Given the description of an element on the screen output the (x, y) to click on. 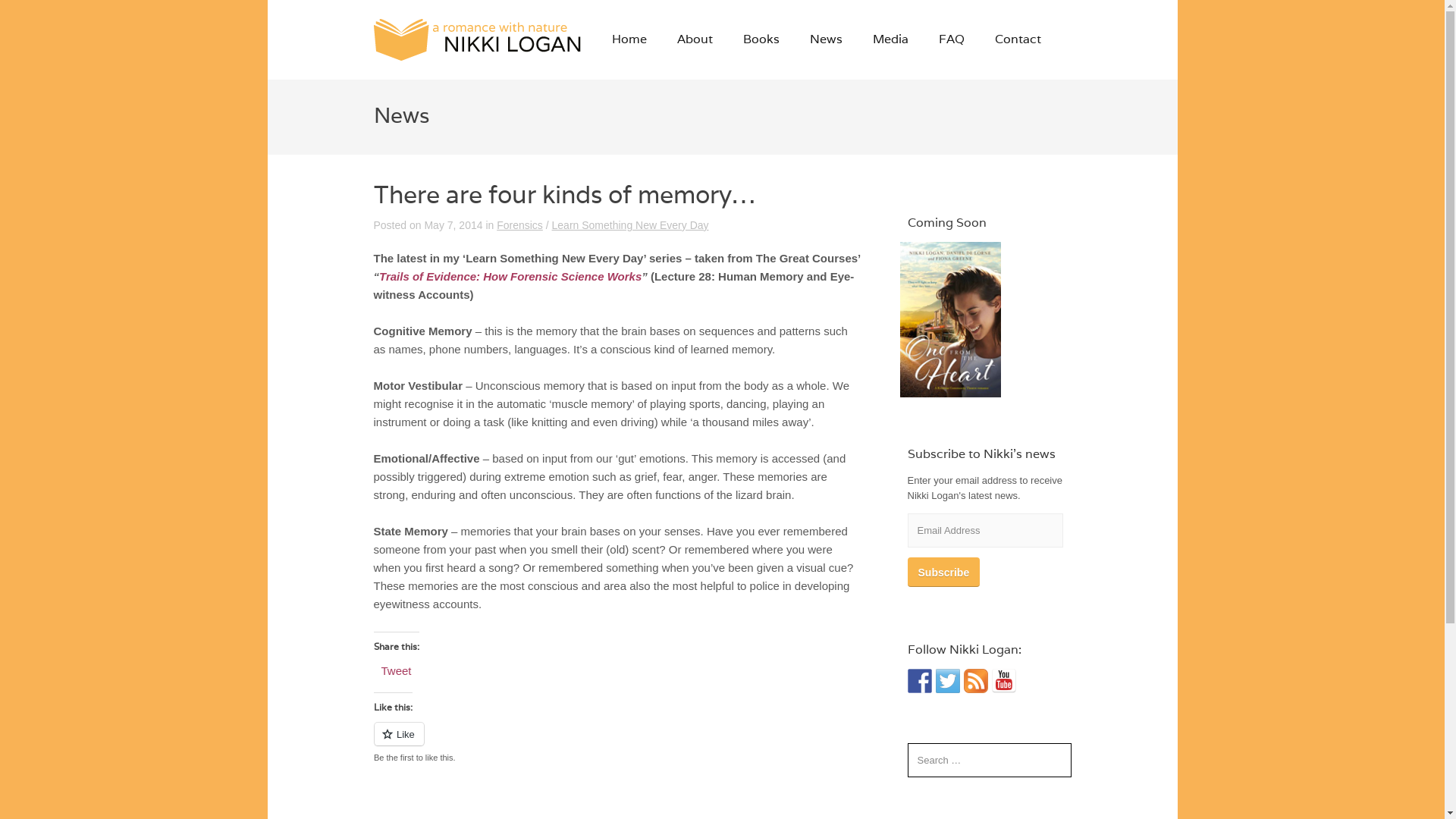
Learn Something New Every Day Element type: text (630, 225)
Tweet Element type: text (395, 670)
Follow us on Twitter Element type: hover (947, 680)
Subscribe to our RSS Feed Element type: hover (975, 680)
Search Element type: text (28, 14)
About Element type: text (694, 39)
News Element type: text (825, 39)
Contact Element type: text (1017, 39)
Follow us on Facebook Element type: hover (918, 680)
http://www.youtube.com/user/NikkiLoganAuthor Element type: hover (1003, 680)
Nikki Logan
A romance with nature Element type: text (477, 39)
Forensics Element type: text (519, 225)
Media Element type: text (889, 39)
Trails of Evidence: How Forensic Science Works Element type: text (510, 275)
Books Element type: text (761, 39)
Home Element type: text (628, 39)
Subscribe Element type: text (942, 571)
FAQ Element type: text (951, 39)
